Given the description of an element on the screen output the (x, y) to click on. 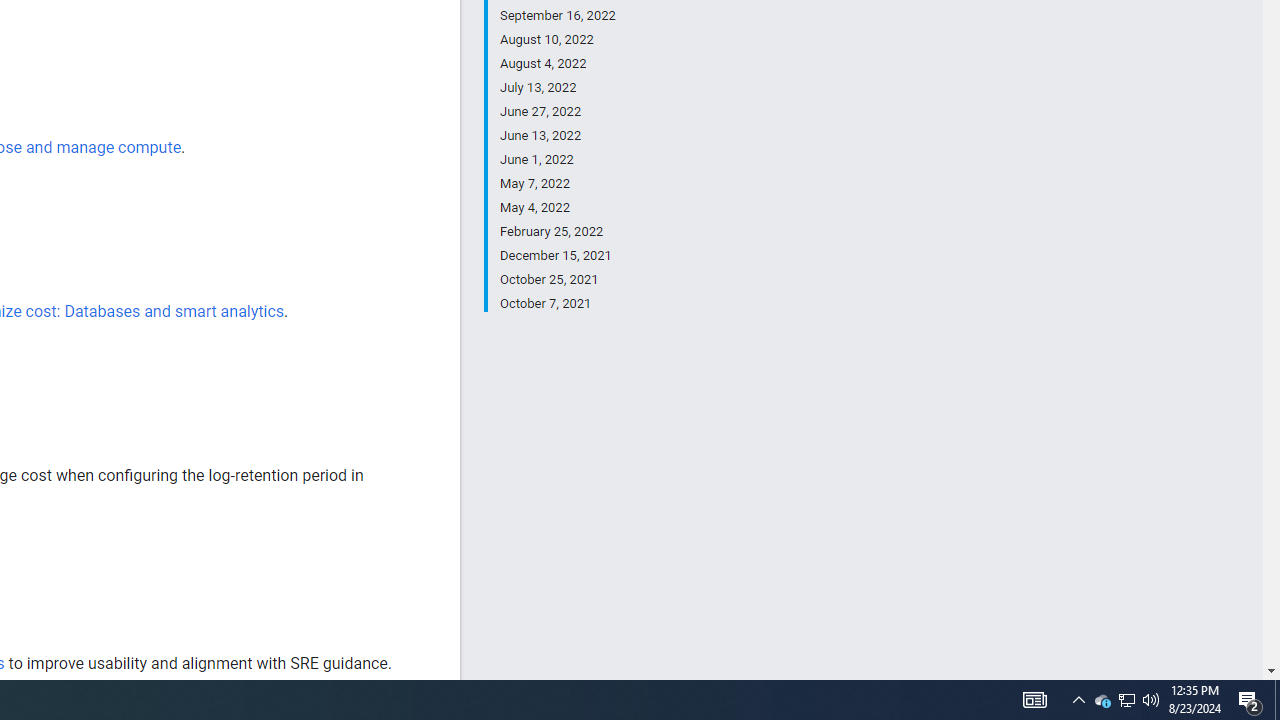
August 10, 2022 (557, 39)
June 1, 2022 (557, 160)
August 4, 2022 (557, 63)
May 7, 2022 (557, 183)
September 16, 2022 (557, 16)
July 13, 2022 (557, 88)
February 25, 2022 (557, 232)
October 7, 2021 (557, 301)
May 4, 2022 (557, 207)
June 27, 2022 (557, 111)
October 25, 2021 (557, 279)
June 13, 2022 (557, 135)
December 15, 2021 (557, 255)
